Given the description of an element on the screen output the (x, y) to click on. 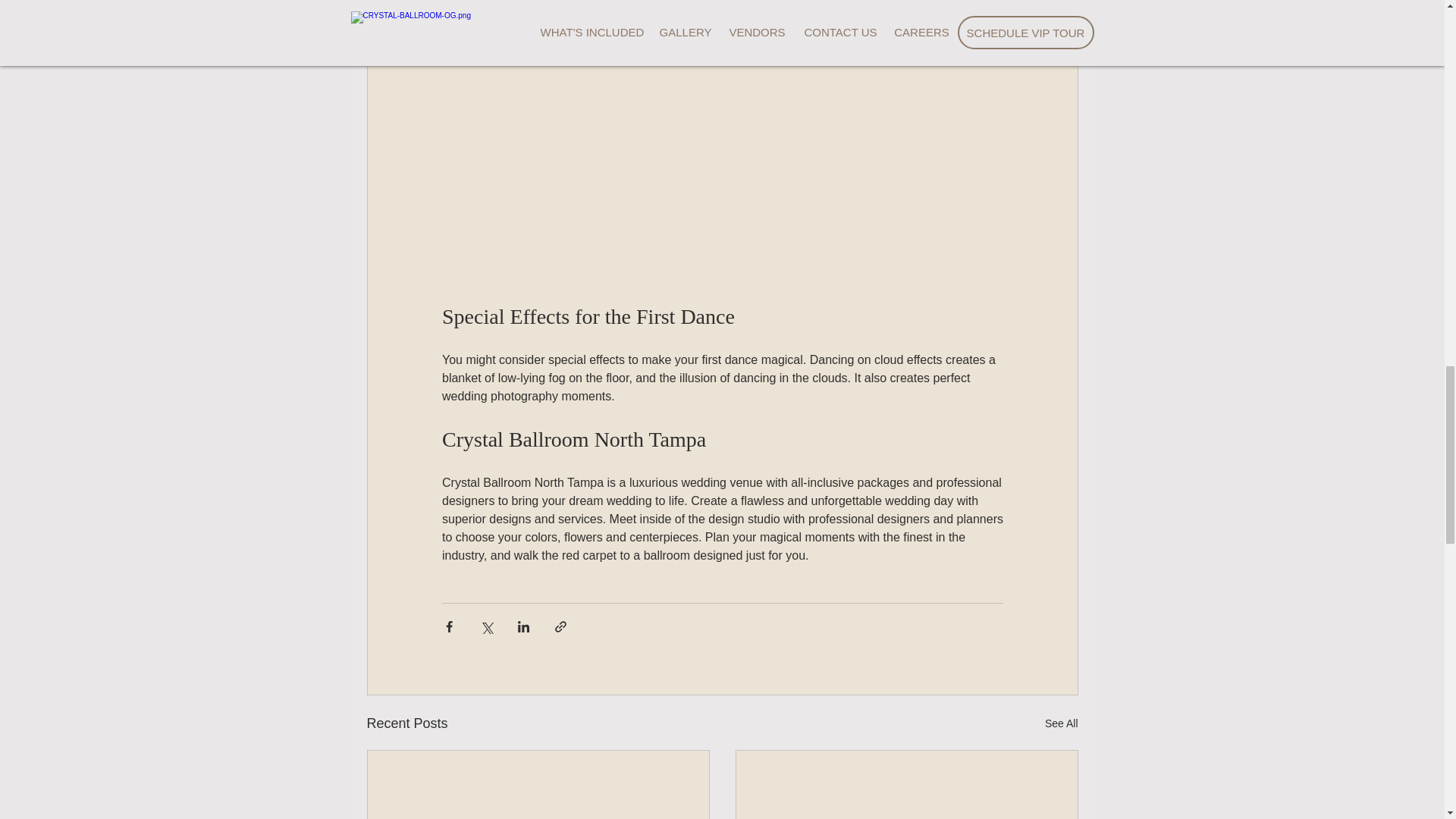
See All (1061, 723)
